Given the description of an element on the screen output the (x, y) to click on. 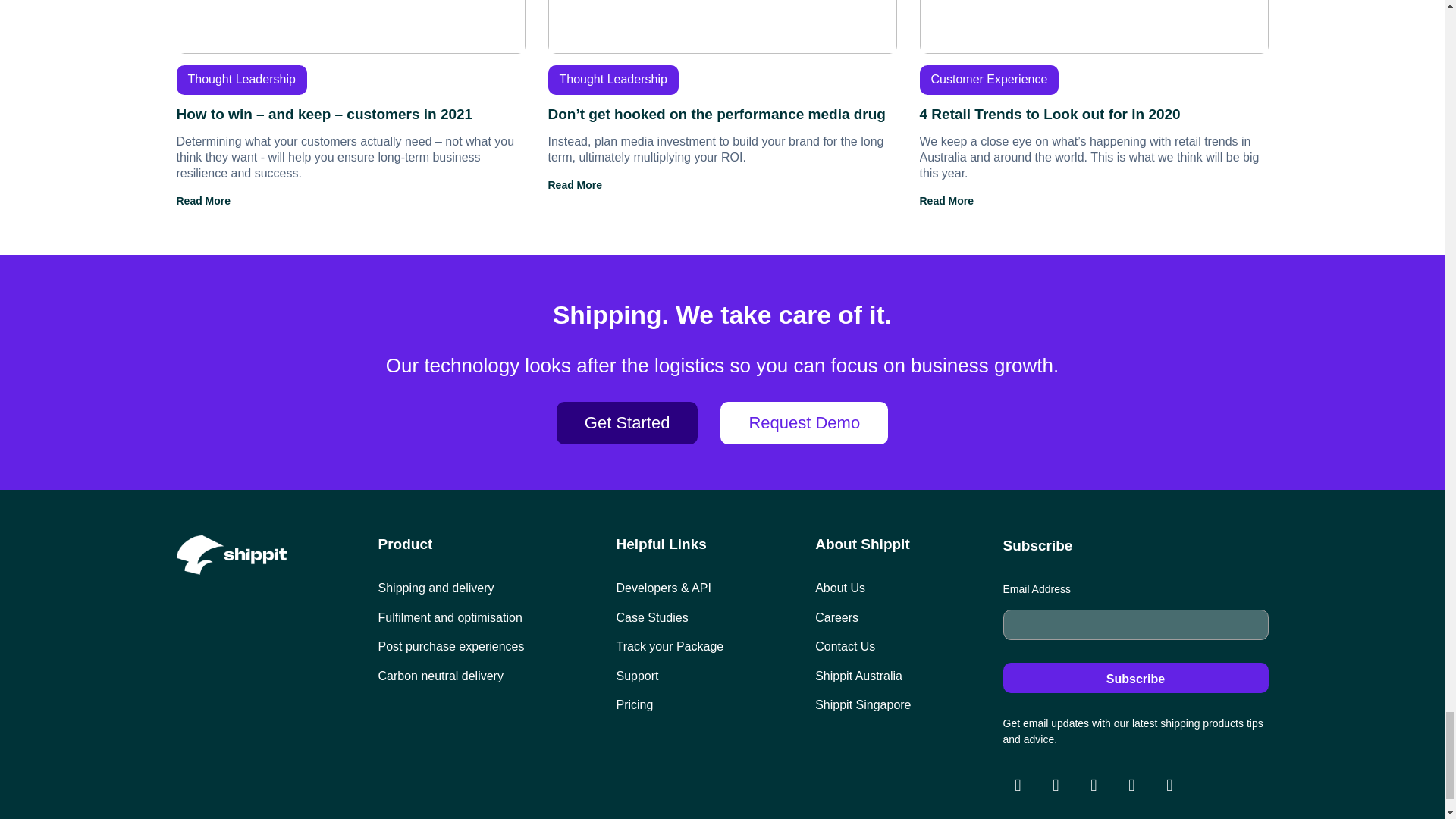
Subscribe (1135, 677)
4 Retail Trends to Look out for in 2020 (1093, 104)
Visit us on LinkedIn (1131, 785)
Visit us on Twitter (1093, 785)
Visit us on Instragram (1017, 785)
Visit us on Facebook (1055, 785)
